Given the description of an element on the screen output the (x, y) to click on. 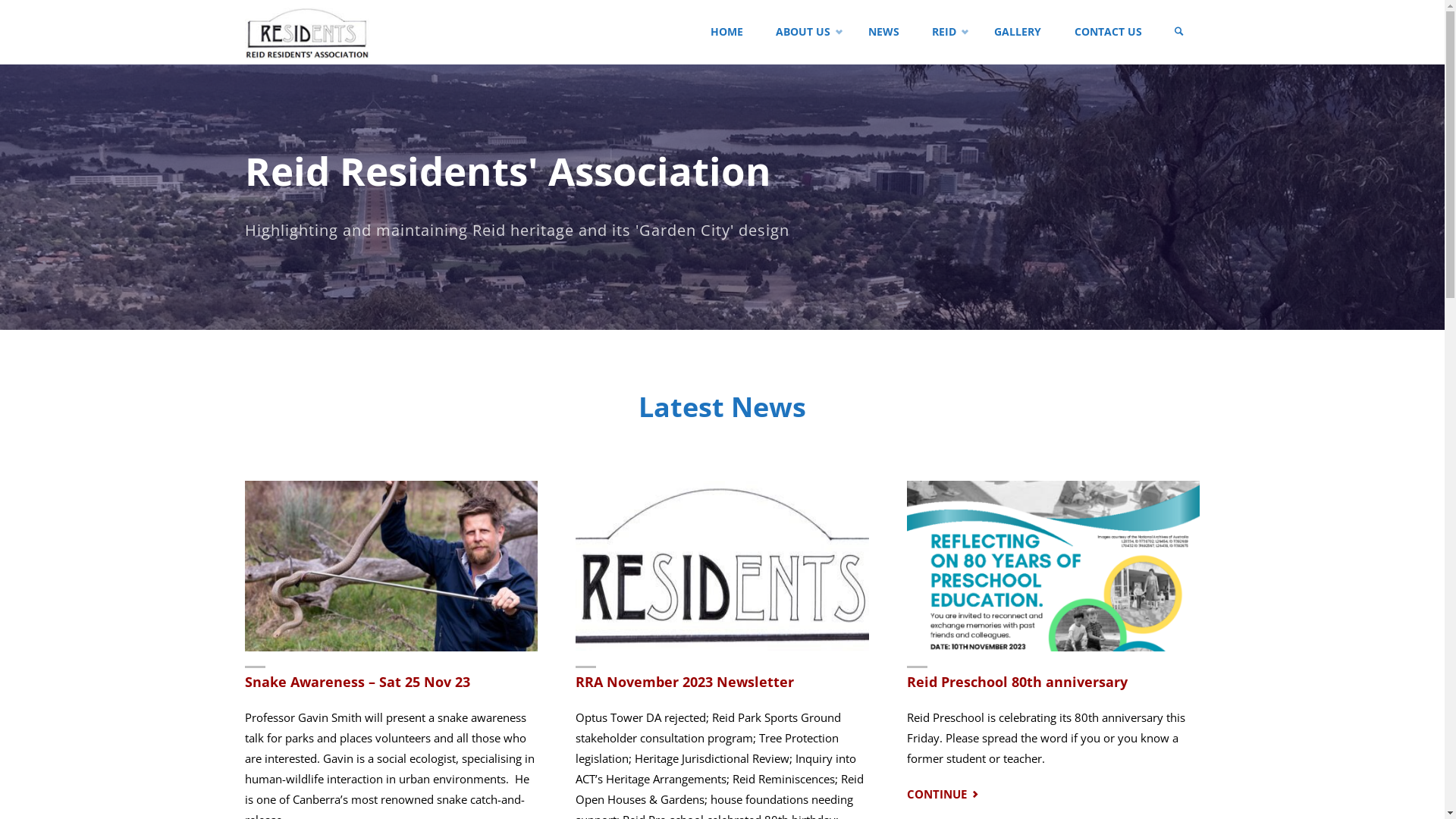
HOME Element type: text (726, 32)
GALLERY Element type: text (1017, 32)
NEWS Element type: text (884, 32)
Reid Preschool 80th anniversary Element type: text (1016, 681)
REID RESIDENTS' ASSOCIATION Element type: text (425, 37)
Reid Residents' Association Element type: hover (306, 31)
CONTINUE
"REID PRESCHOOL 80TH ANNIVERSARY" Element type: text (943, 793)
CONTACT US Element type: text (1107, 32)
RRA November 2023 Newsletter Element type: text (684, 681)
REID Element type: text (947, 32)
ABOUT US Element type: text (805, 32)
